Given the description of an element on the screen output the (x, y) to click on. 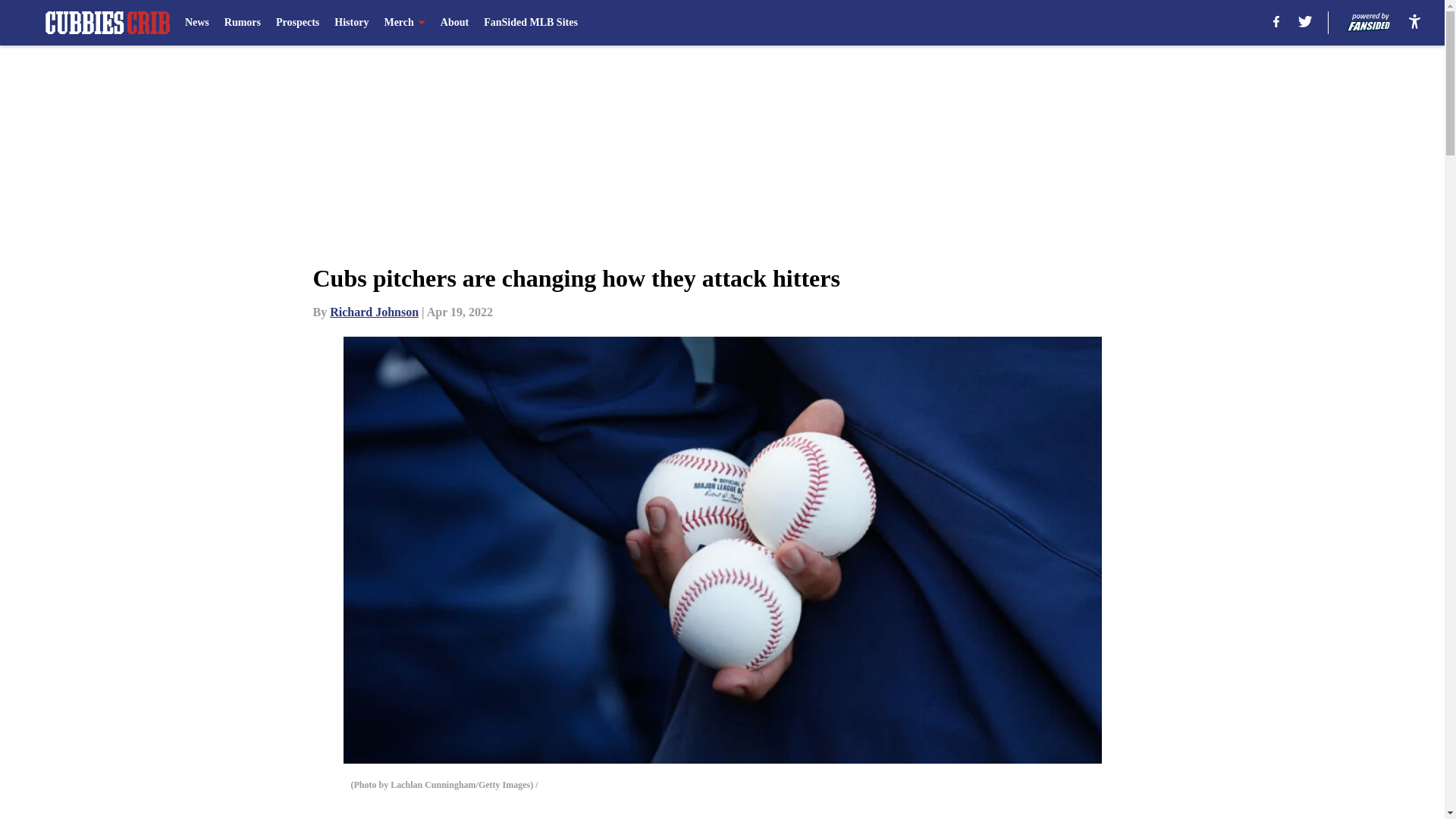
Rumors (242, 22)
Prospects (297, 22)
Richard Johnson (374, 311)
News (196, 22)
FanSided MLB Sites (530, 22)
History (351, 22)
About (454, 22)
